Given the description of an element on the screen output the (x, y) to click on. 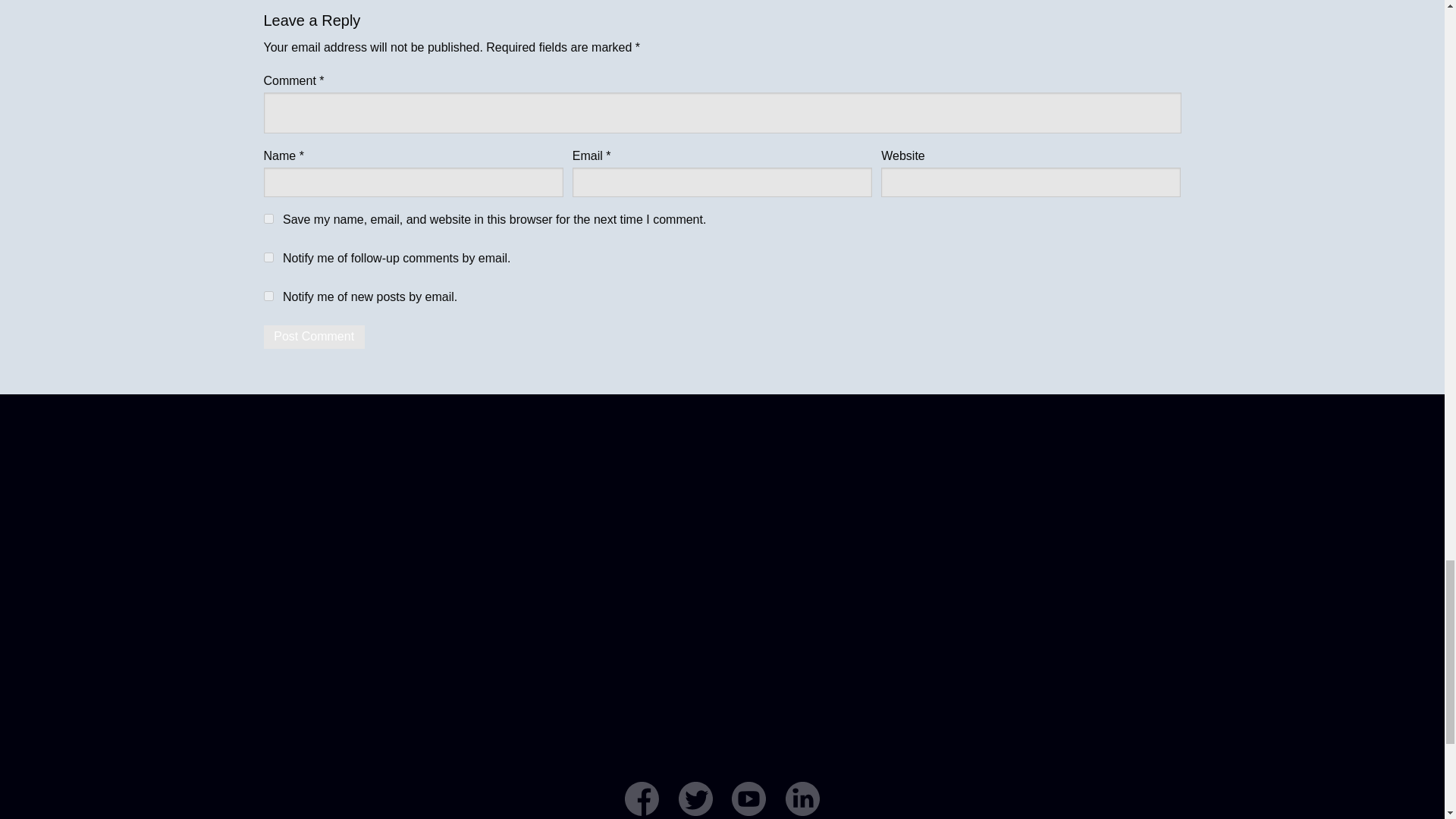
Post Comment (314, 336)
subscribe (268, 257)
yes (268, 218)
subscribe (268, 296)
